Given the description of an element on the screen output the (x, y) to click on. 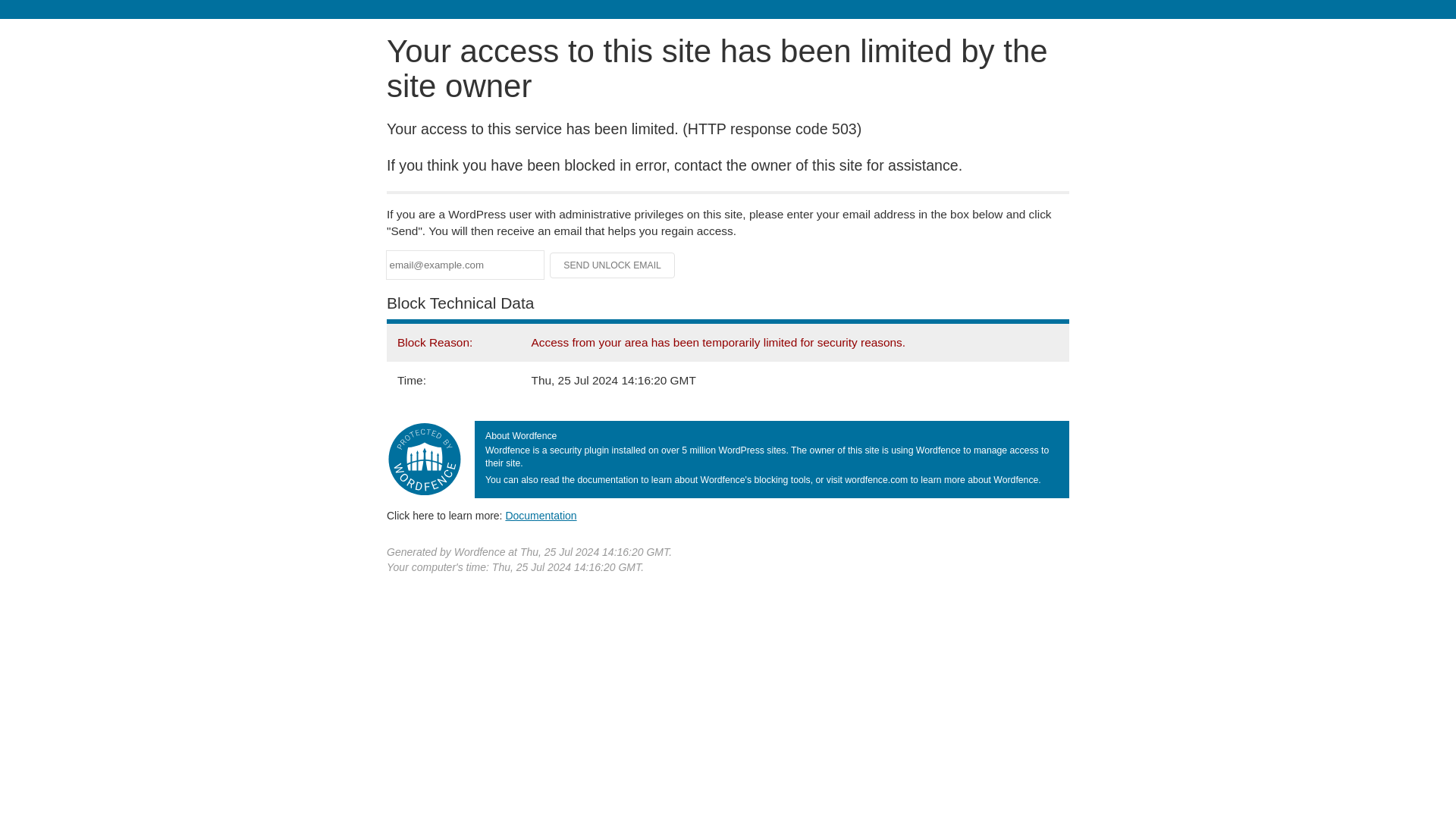
Documentation (540, 515)
Send Unlock Email (612, 265)
Send Unlock Email (612, 265)
